Given the description of an element on the screen output the (x, y) to click on. 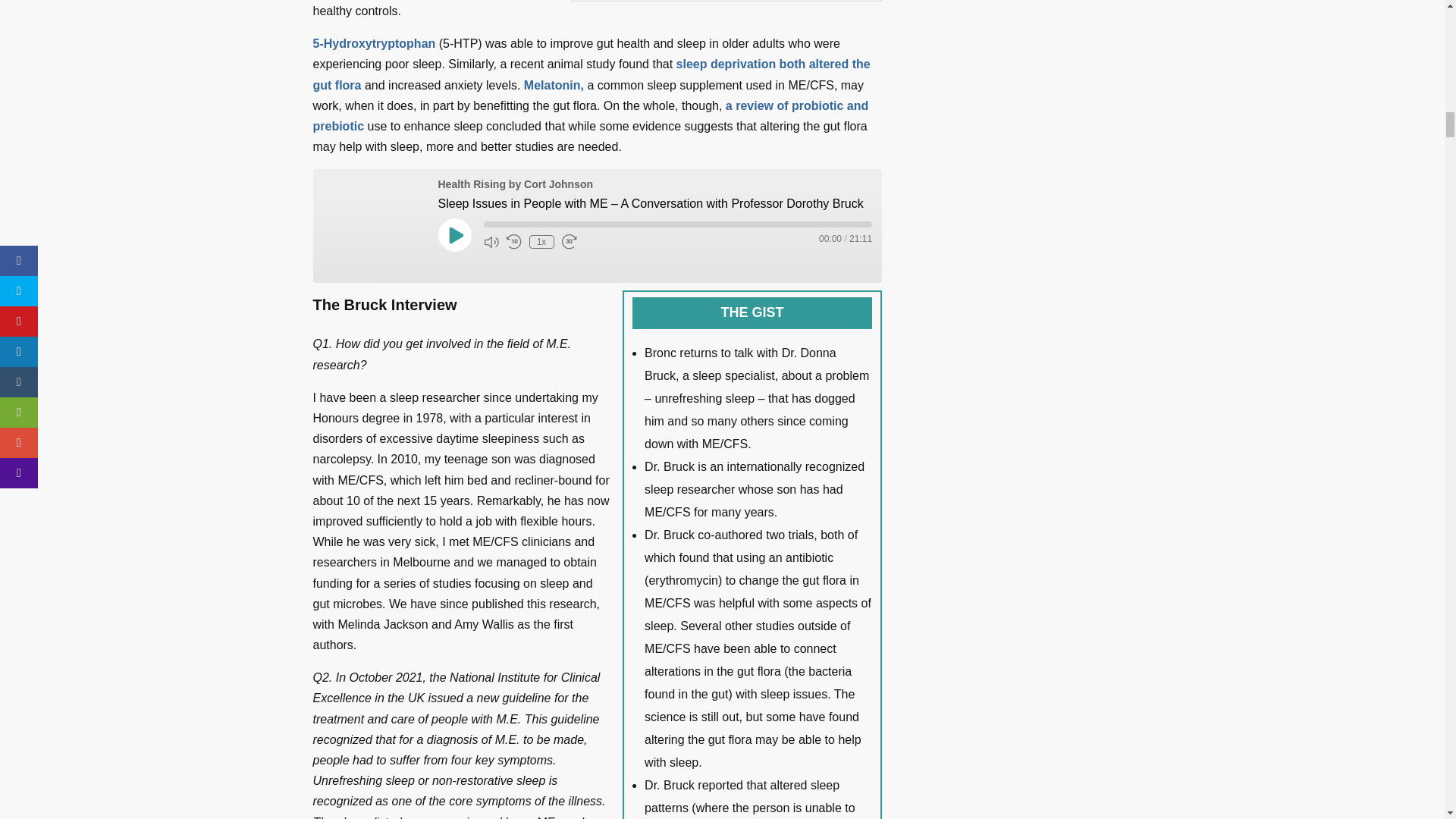
Play (454, 234)
Seek (677, 224)
Health Rising by Cort Johnson (369, 225)
